Given the description of an element on the screen output the (x, y) to click on. 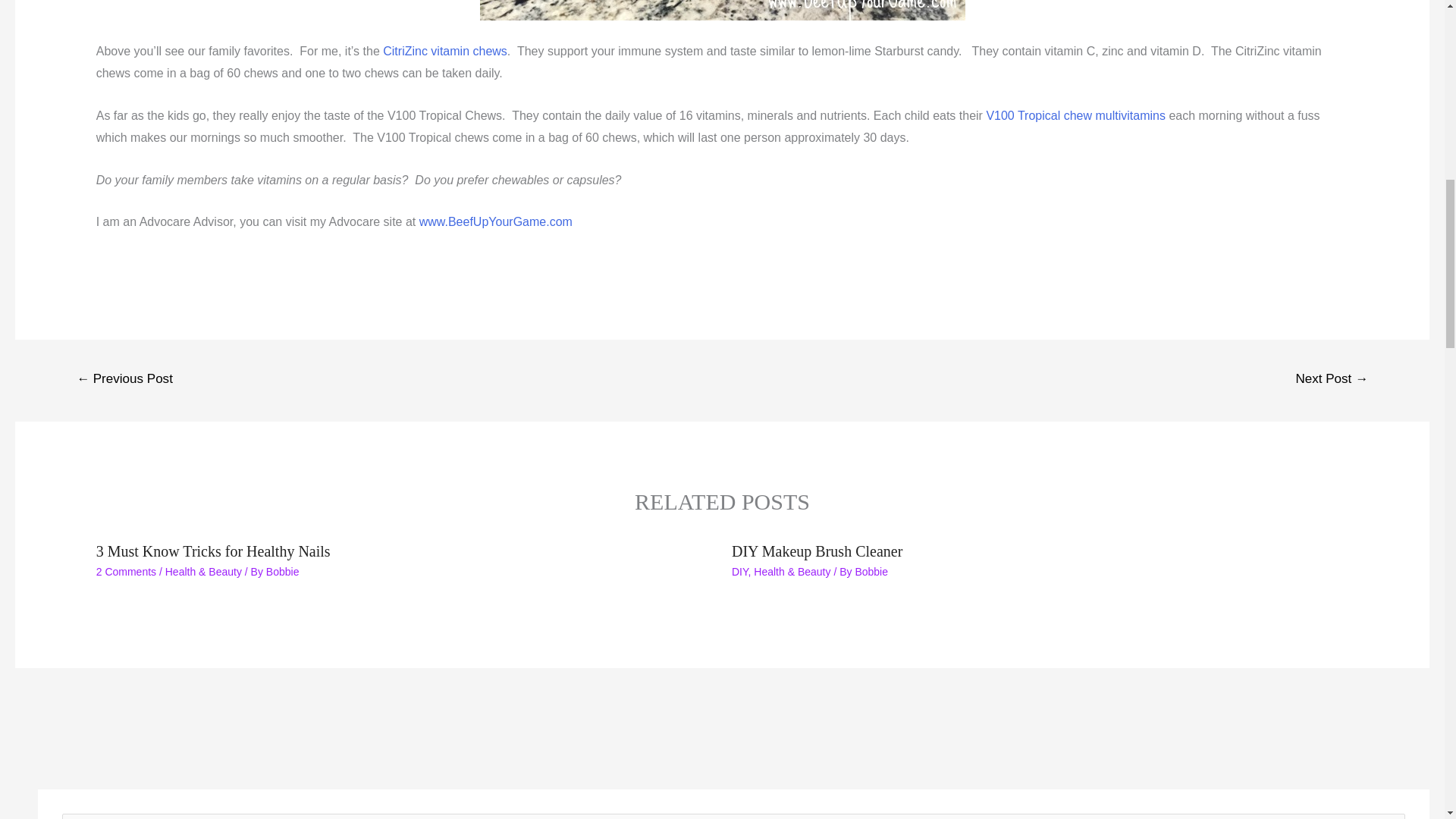
View all posts by Bobbie (282, 571)
Search (1388, 816)
DIY (740, 571)
2 Comments (125, 571)
Bobbie (282, 571)
CitriZinc vitamin chews (444, 51)
3 Must Know Tricks for Healthy Nails (213, 550)
View all posts by Bobbie (871, 571)
www.BeefUpYourGame.com (495, 221)
Search (1388, 816)
